Given the description of an element on the screen output the (x, y) to click on. 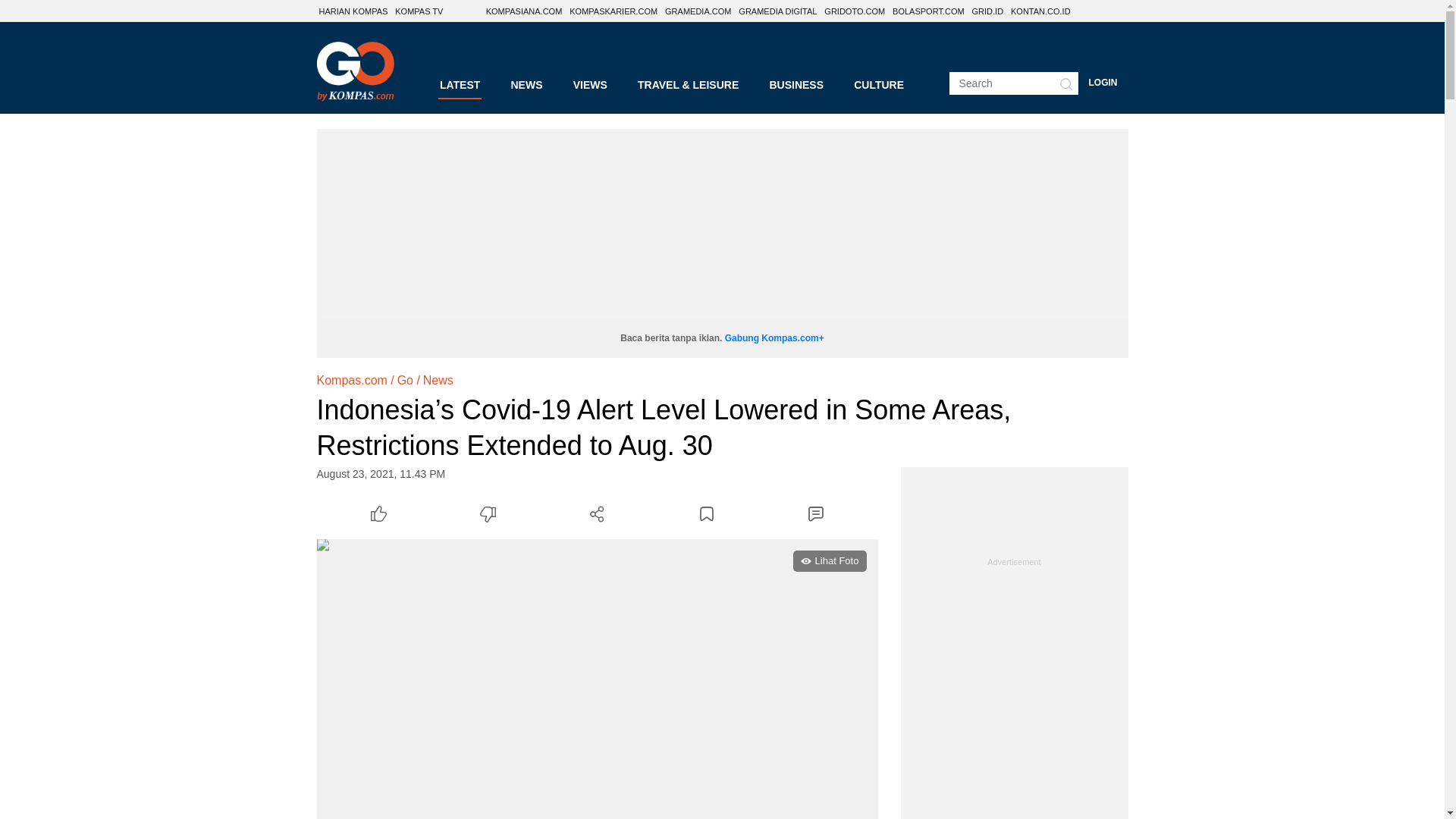
Kompas.com (352, 381)
GRAMEDIA.COM (697, 11)
icon-search (1065, 82)
BUSINESS (796, 84)
GRAMEDIA DIGITAL (777, 11)
KONTAN.CO.ID (1041, 11)
GRID.ID (987, 11)
HARIAN KOMPAS (353, 11)
CULTURE (878, 84)
NEWS (525, 84)
